Given the description of an element on the screen output the (x, y) to click on. 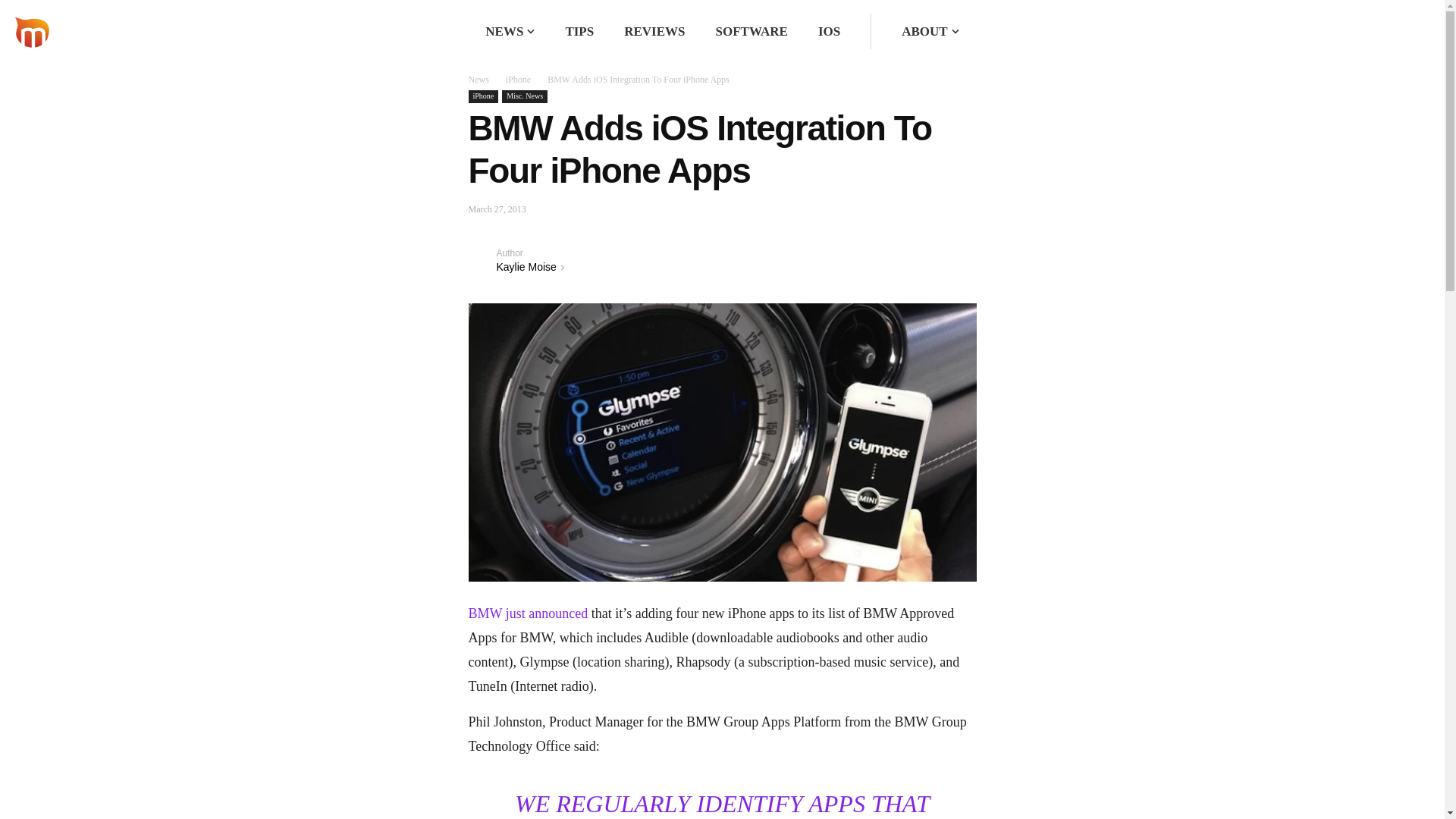
REVIEWS (654, 31)
Search (918, 31)
SOFTWARE (751, 31)
Search (918, 31)
View all posts in iPhone (518, 79)
BMW just announced (528, 613)
iPhone (483, 96)
Kaylie Moise (482, 258)
ABOUT (924, 31)
